Given the description of an element on the screen output the (x, y) to click on. 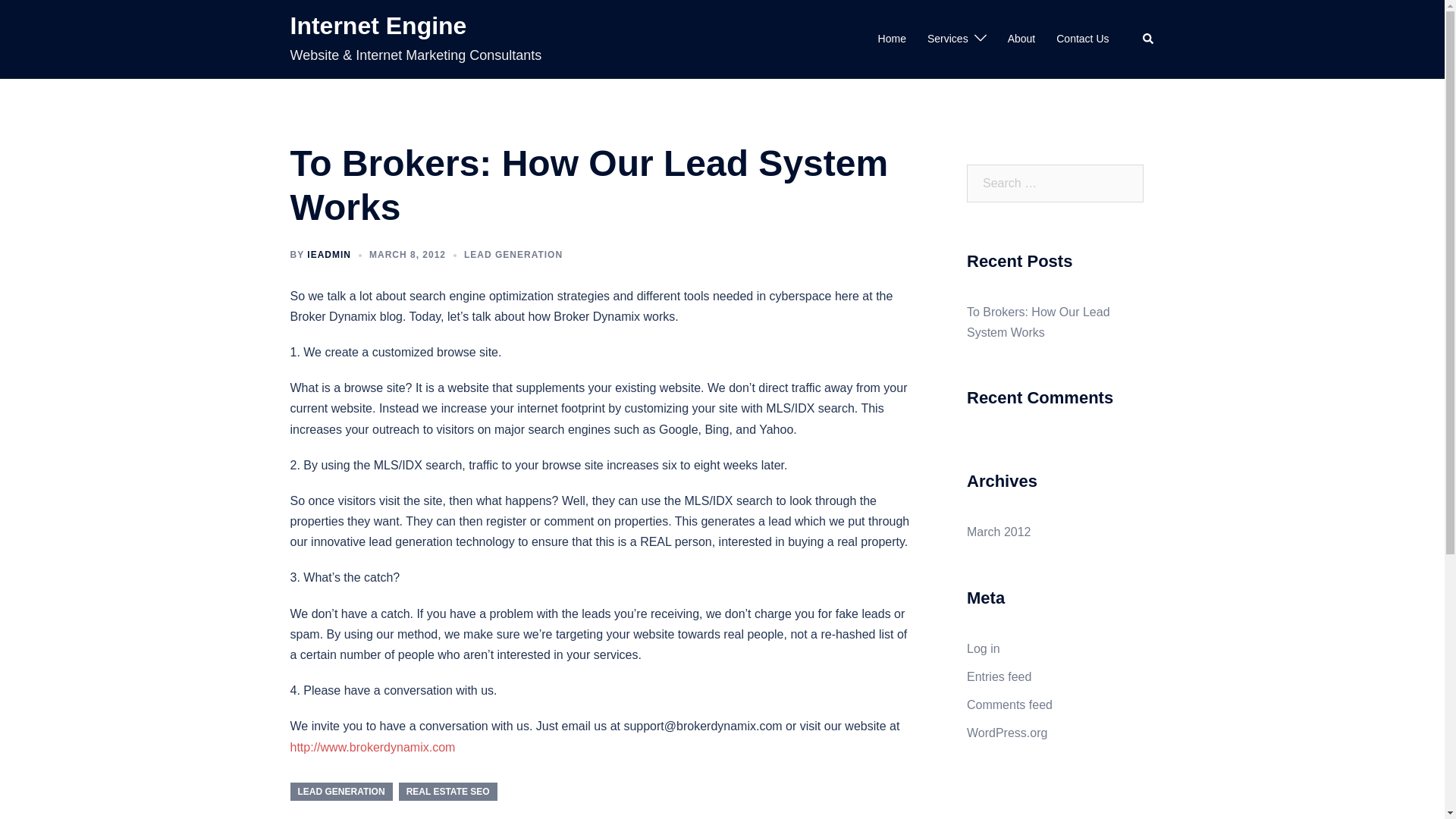
IEADMIN (328, 254)
Services (947, 39)
LEAD GENERATION (340, 791)
Internet Engine (377, 25)
Entries feed (998, 676)
About (1021, 39)
REAL ESTATE SEO (447, 791)
Log in (983, 648)
Comments feed (1009, 704)
March 2012 (998, 531)
WordPress.org (1006, 732)
Contact Us (1082, 39)
To Brokers: How Our Lead System Works (1037, 322)
MARCH 8, 2012 (407, 254)
Search (47, 18)
